Given the description of an element on the screen output the (x, y) to click on. 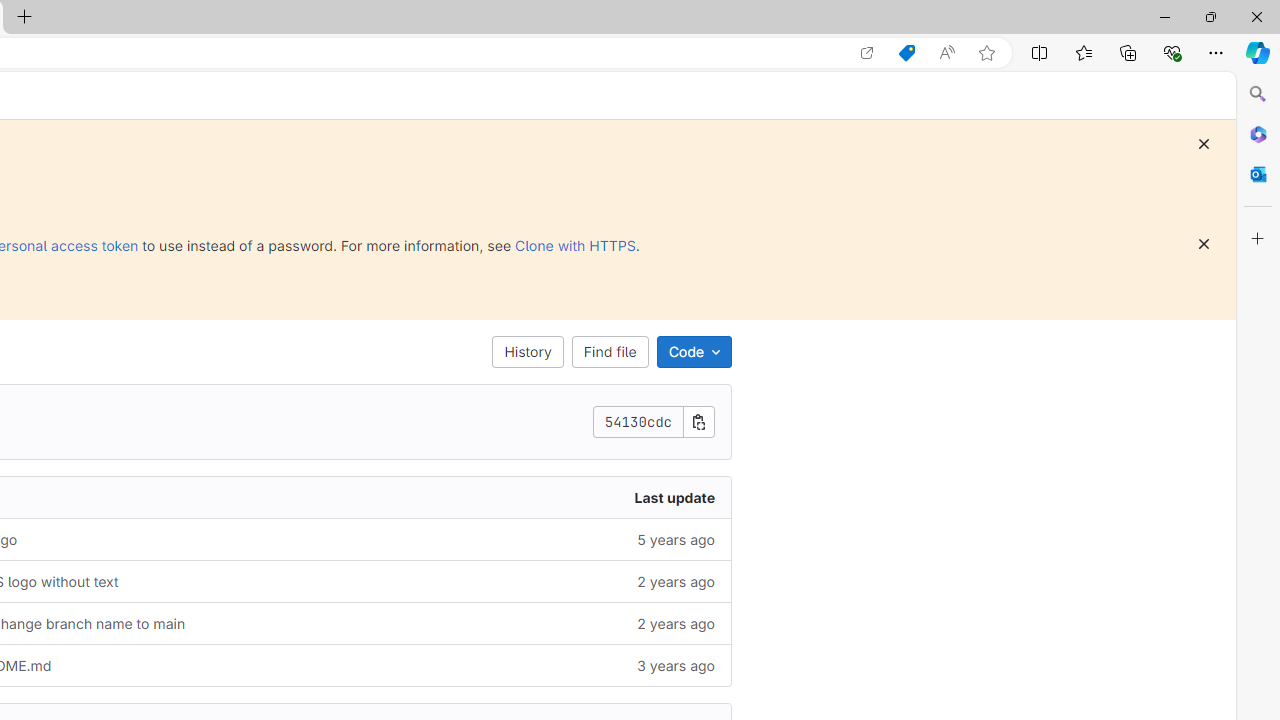
2 years ago (522, 623)
History (527, 351)
Clone with HTTPS (575, 245)
Last update (522, 497)
Find file (609, 351)
Class: s16 gl-icon gl-button-icon  (1203, 243)
